Given the description of an element on the screen output the (x, y) to click on. 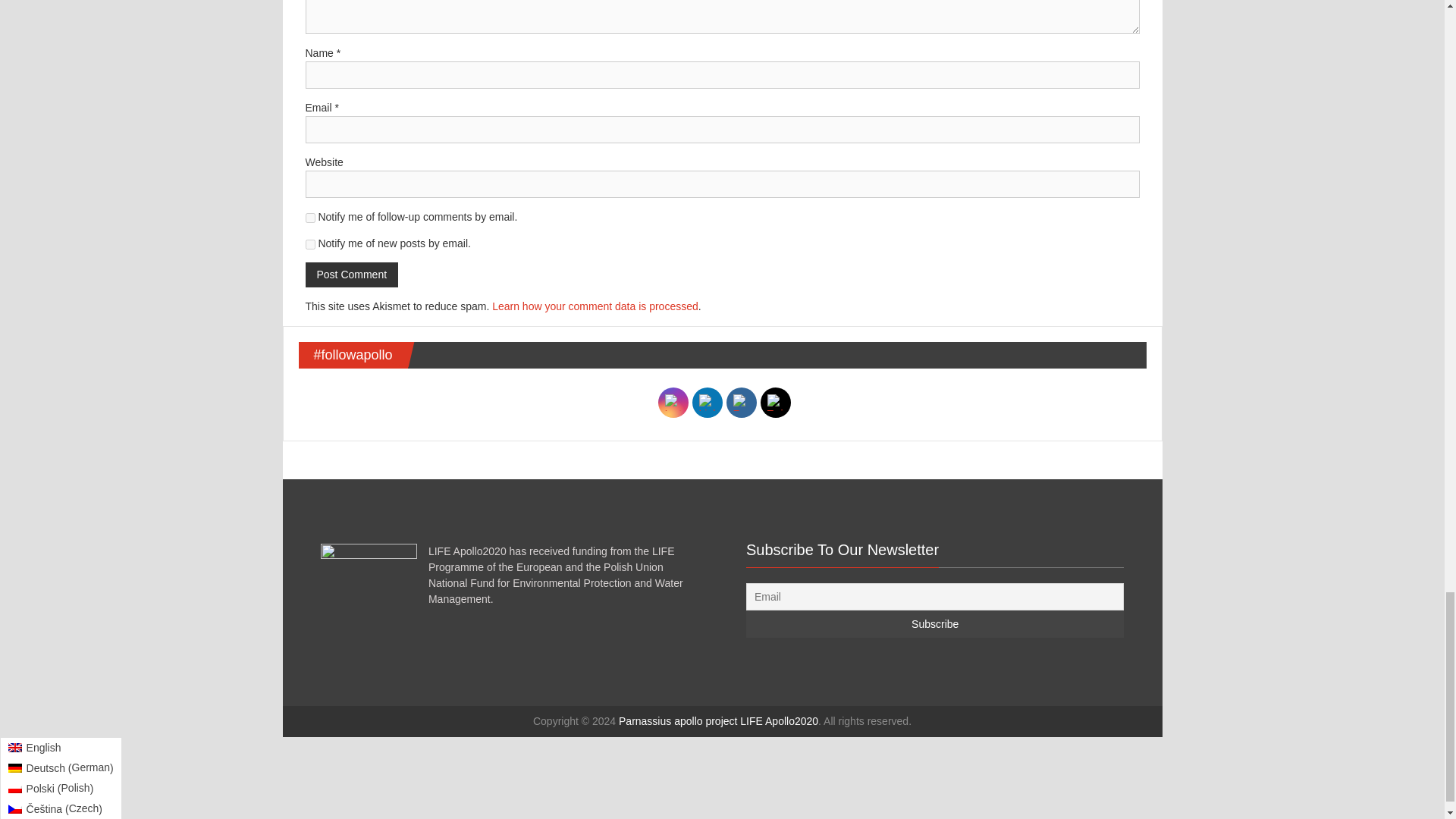
Post Comment (350, 274)
Subscribe (934, 624)
subscribe (309, 244)
subscribe (309, 217)
